Given the description of an element on the screen output the (x, y) to click on. 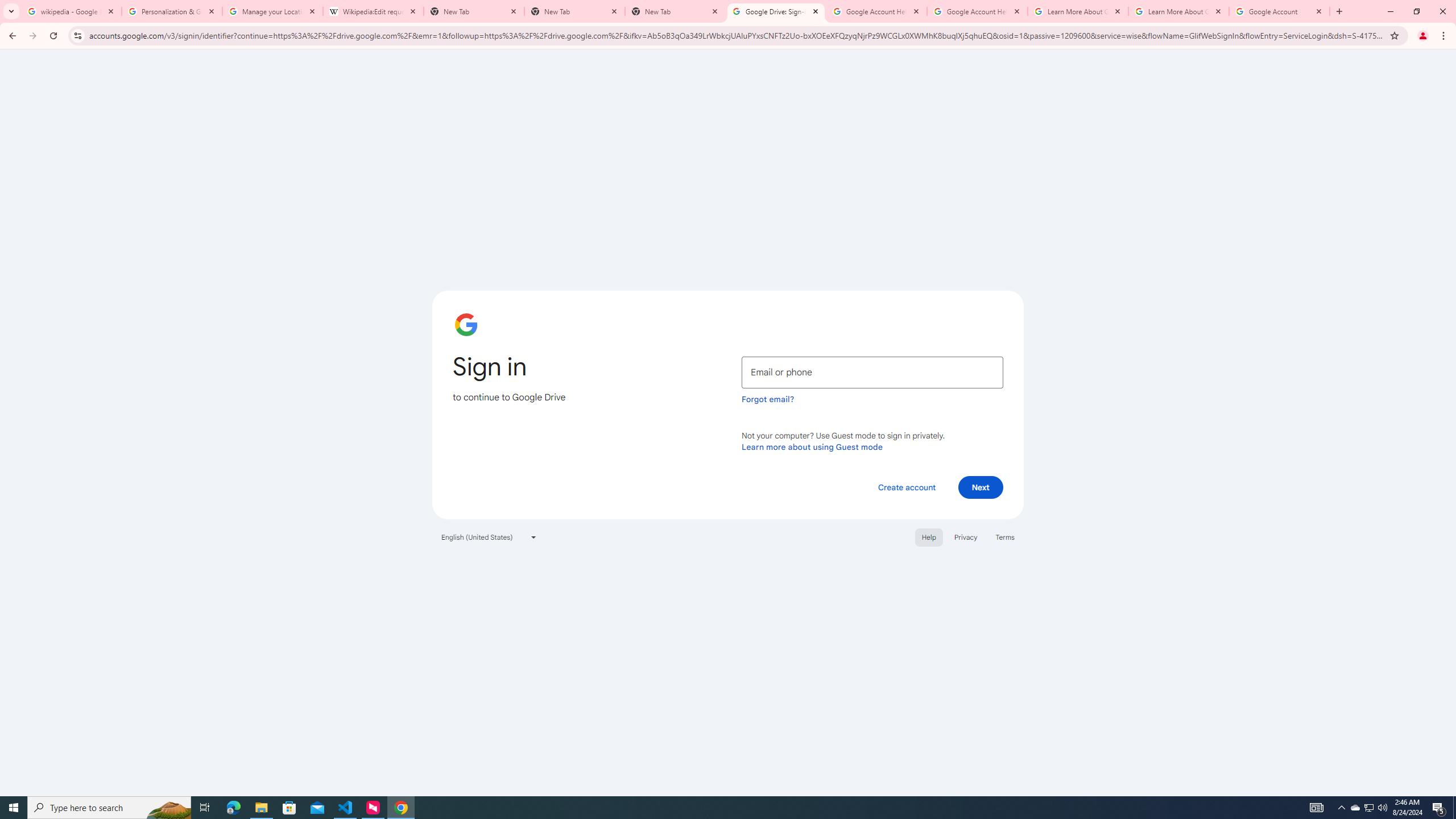
English (United States) (489, 536)
Personalization & Google Search results - Google Search Help (171, 11)
New Tab (675, 11)
New Tab (574, 11)
Wikipedia:Edit requests - Wikipedia (373, 11)
